Given the description of an element on the screen output the (x, y) to click on. 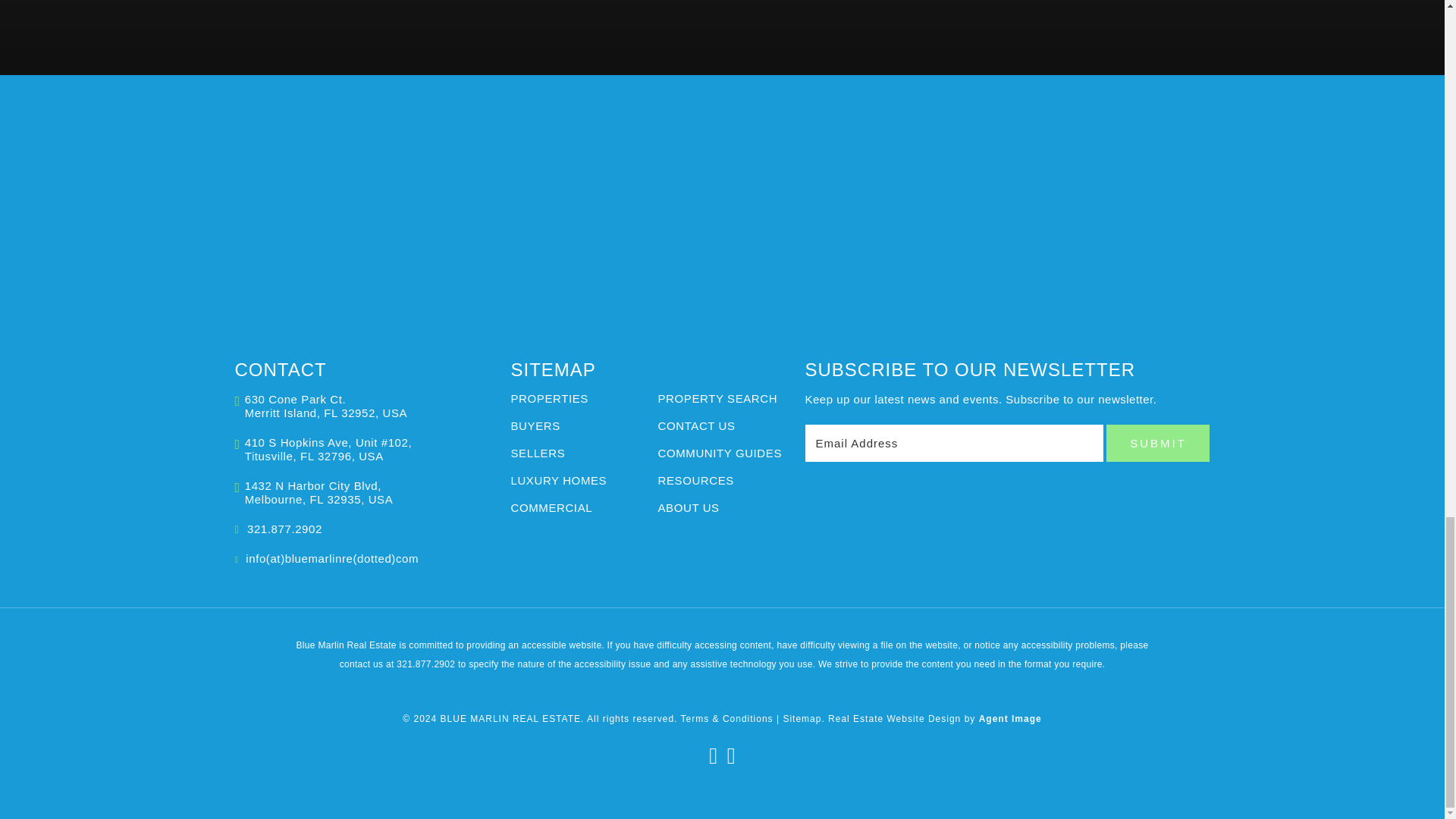
Submit (1157, 443)
